Given the description of an element on the screen output the (x, y) to click on. 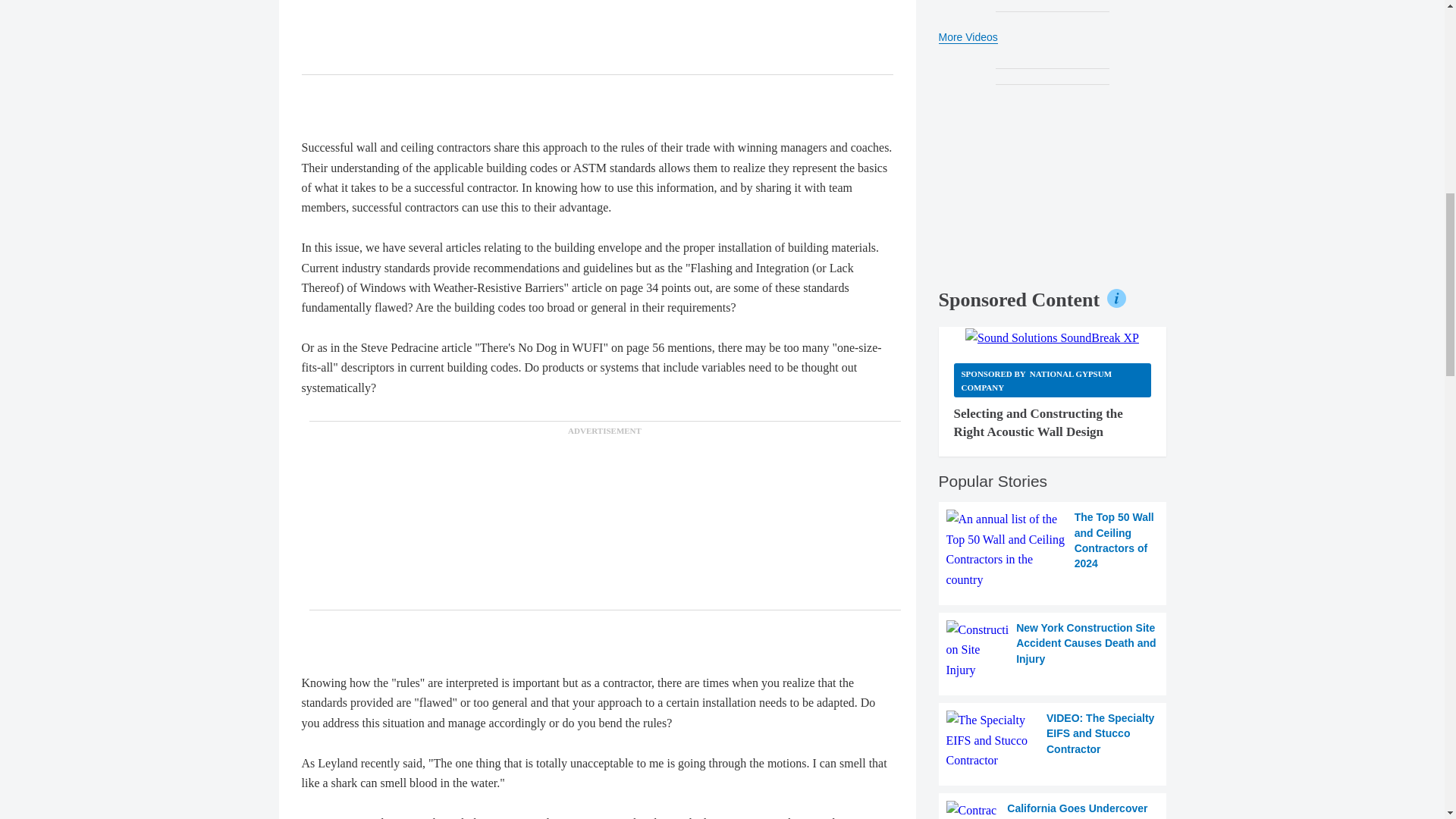
Sponsored by National Gypsum Company (1052, 380)
Sound Solutions SoundBreak XP (1051, 338)
New York Construction Site Accident Causes Death and Injury (1052, 649)
VIDEO: The Specialty EIFS and Stucco Contractor (1052, 740)
The Top 50 Wall and Ceiling Contractors of 2024 (1052, 549)
California Goes Undercover to Catch Unlicensed Contractors (1052, 809)
